Given the description of an element on the screen output the (x, y) to click on. 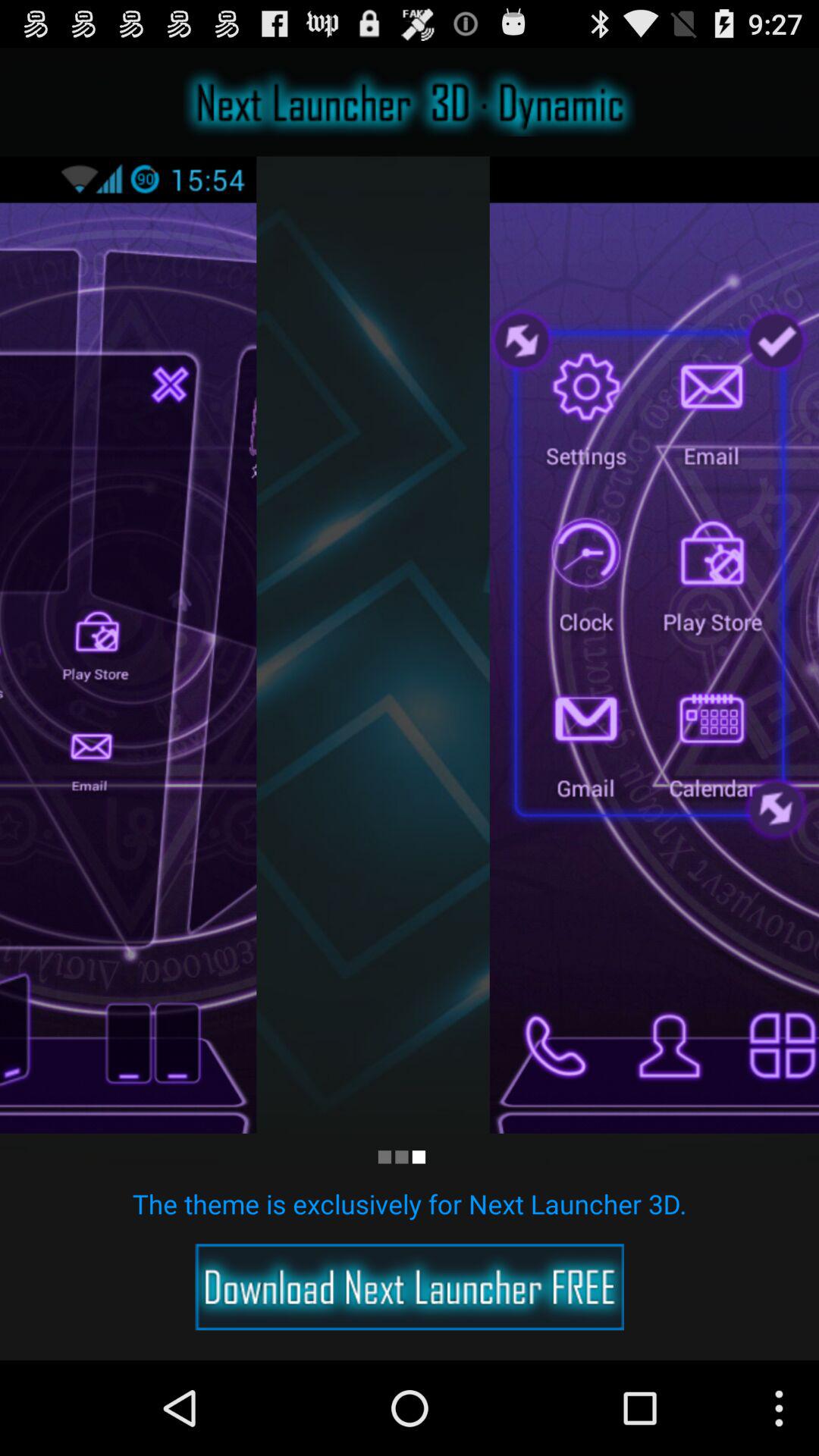
download option (409, 1286)
